Given the description of an element on the screen output the (x, y) to click on. 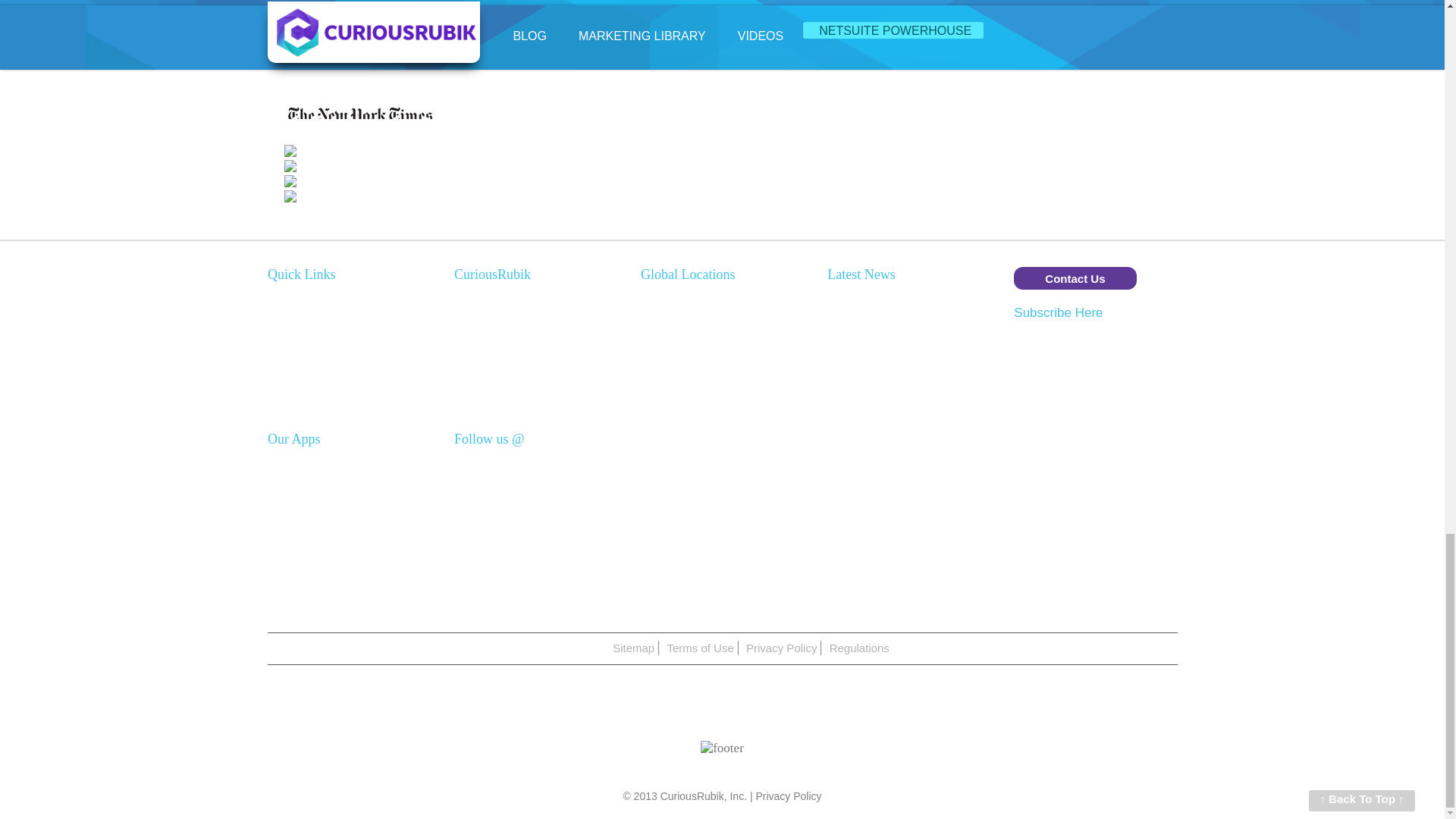
E-Commerce (301, 359)
CRM (280, 318)
Maximum no of fields that are allowed in quick view? (901, 386)
Blog (465, 400)
Contact Us (1074, 277)
ERP (279, 299)
Open Cases Aging Report (892, 445)
Rubik Event Management (333, 481)
Careers (475, 359)
Rubik HR (292, 502)
